Given the description of an element on the screen output the (x, y) to click on. 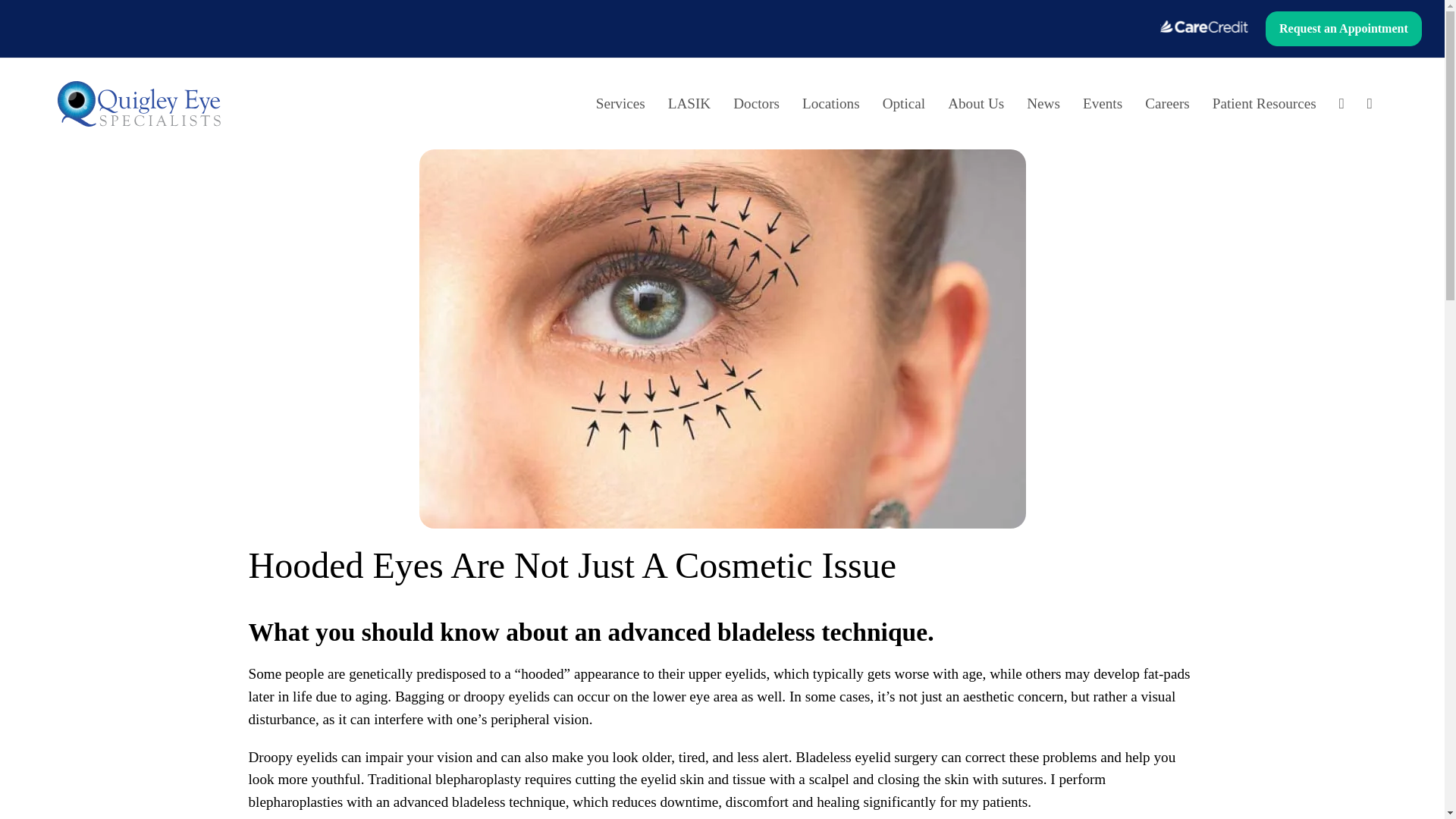
Doctors (756, 103)
Optical (903, 103)
Request an Appointment (1343, 29)
Locations (830, 103)
Request an Appointment (1343, 28)
LASIK (689, 103)
Services (620, 103)
